Given the description of an element on the screen output the (x, y) to click on. 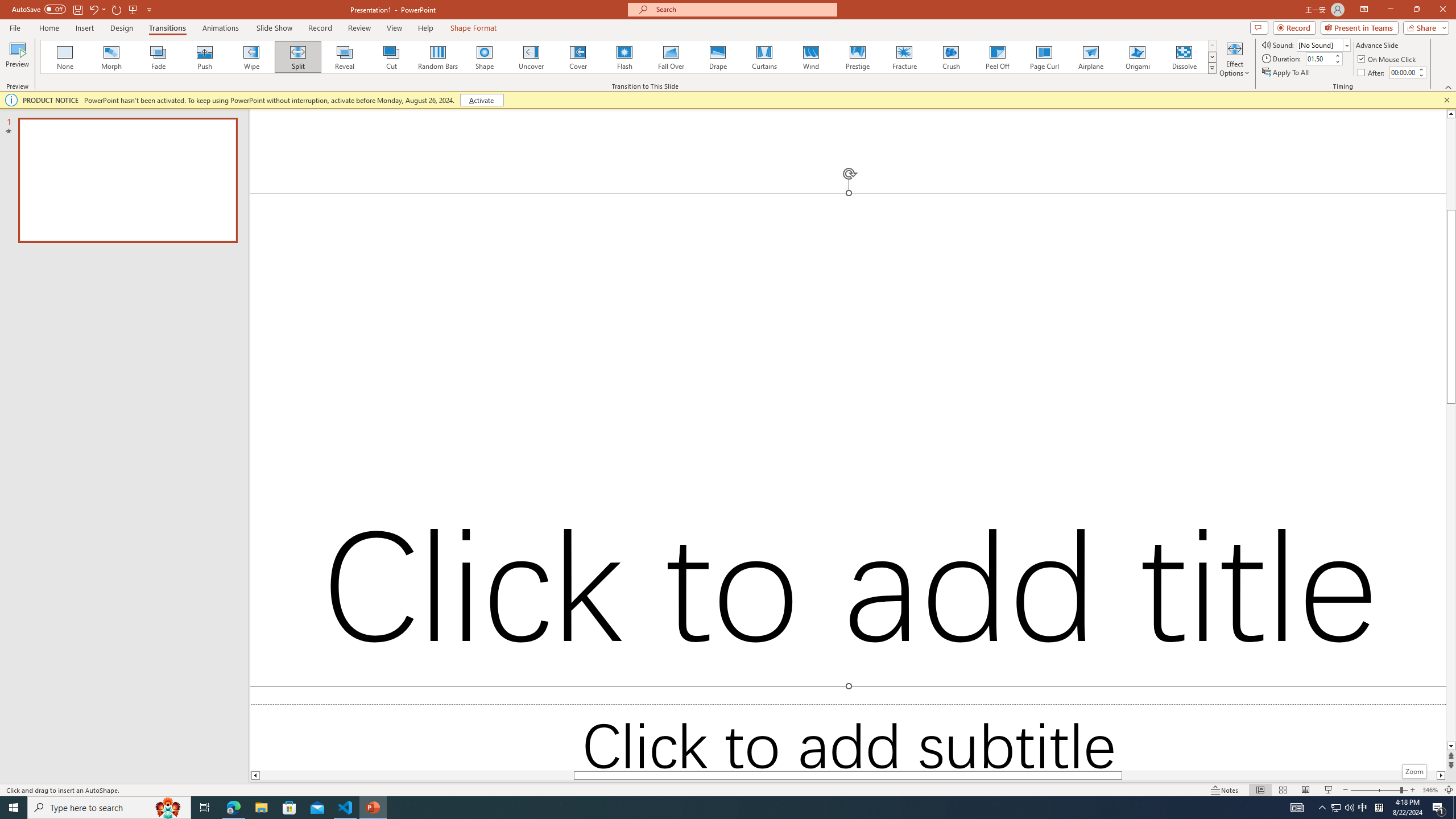
Transition Effects (1212, 67)
Fracture (903, 56)
Crush (950, 56)
Apply To All (1286, 72)
Flash (624, 56)
Zoom 346% (1430, 790)
